Given the description of an element on the screen output the (x, y) to click on. 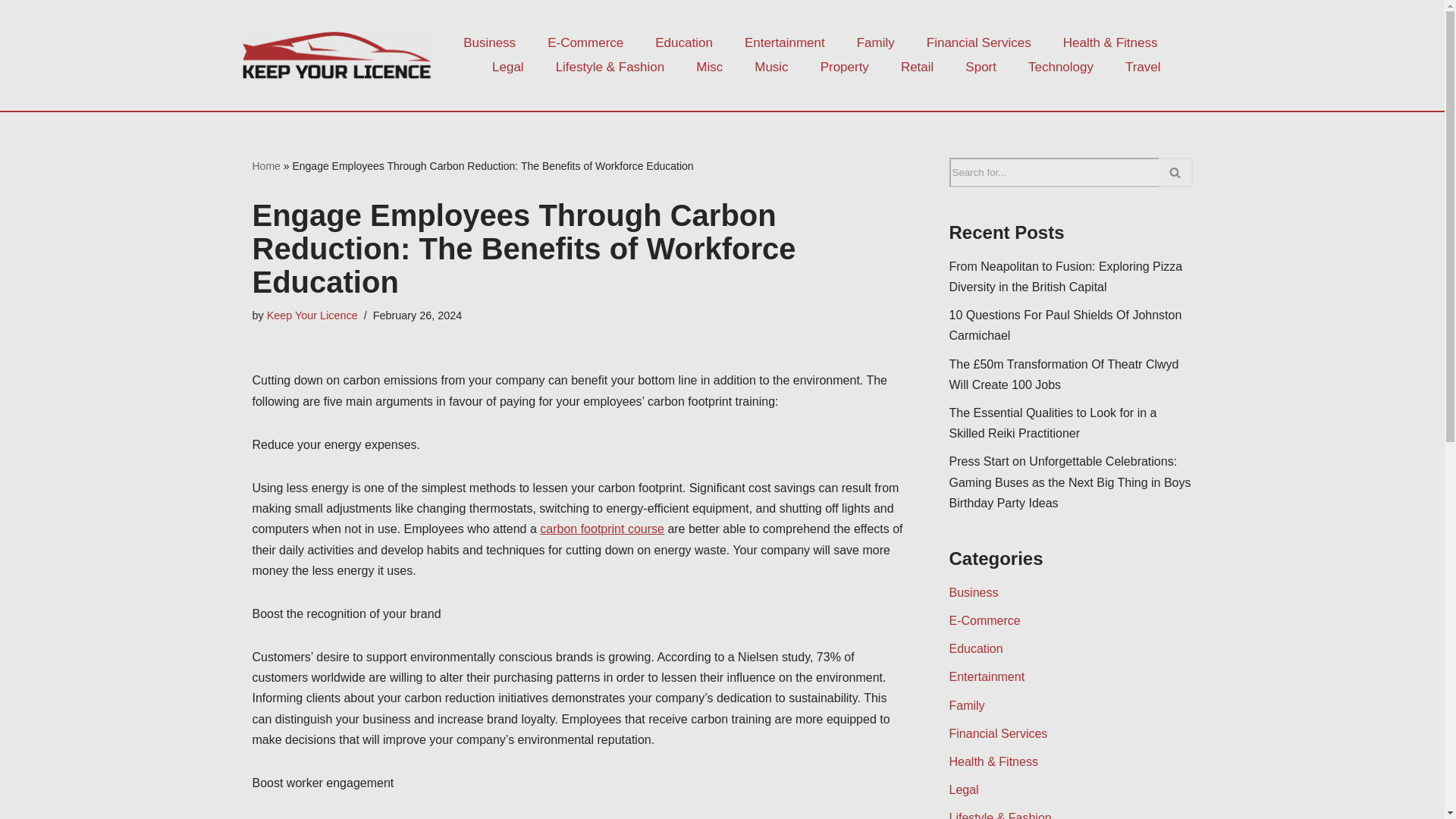
Financial Services (978, 43)
Entertainment (784, 43)
carbon footprint course (601, 528)
Skip to content (11, 31)
Property (845, 67)
Business (489, 43)
Keep Your Licence (312, 315)
Misc (708, 67)
Travel (1142, 67)
Retail (917, 67)
